Given the description of an element on the screen output the (x, y) to click on. 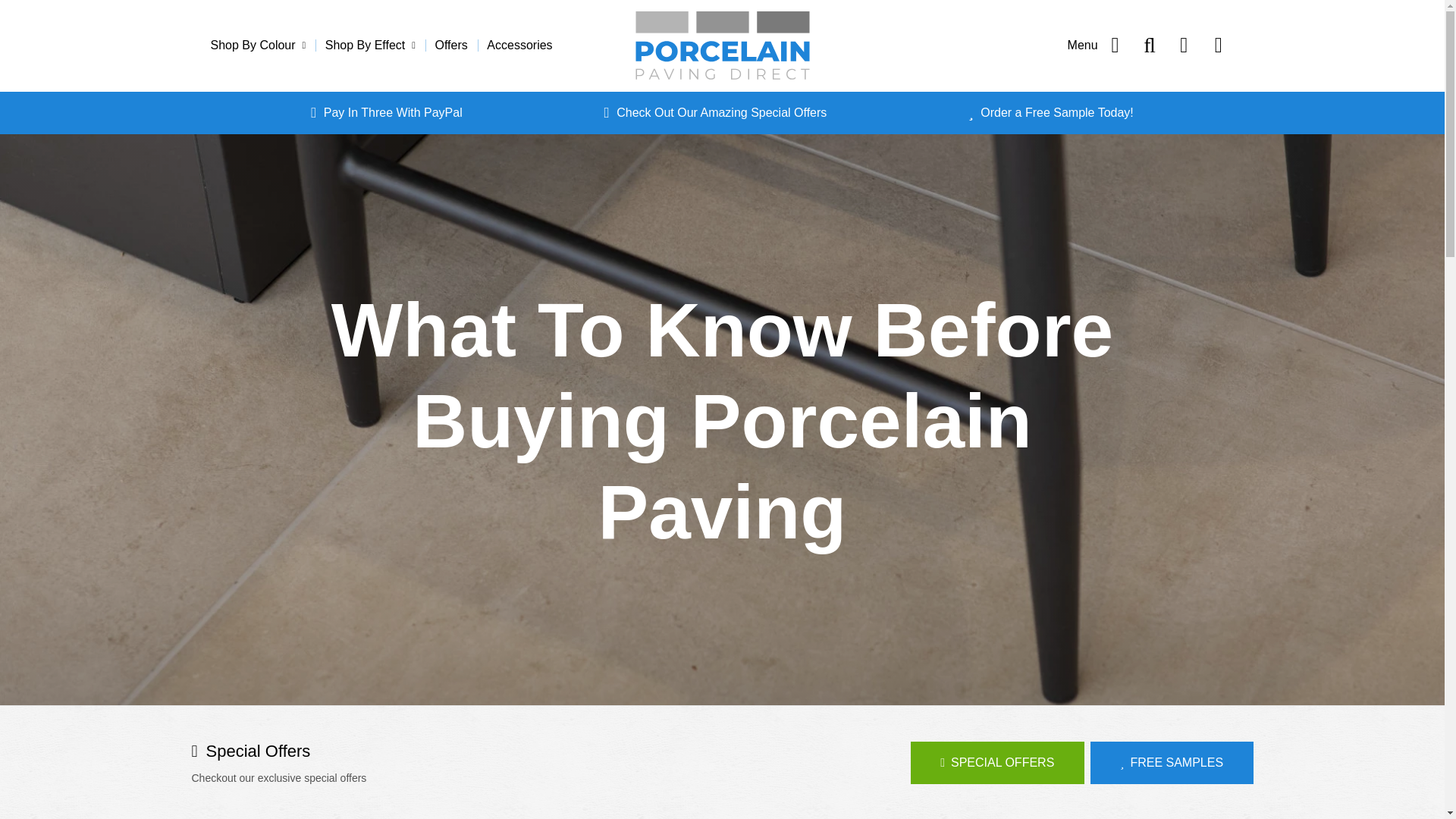
Menu (1097, 45)
Offers (451, 45)
Accessories (519, 45)
Shop By Colour   (263, 45)
Shop By Effect   (370, 45)
